Given the description of an element on the screen output the (x, y) to click on. 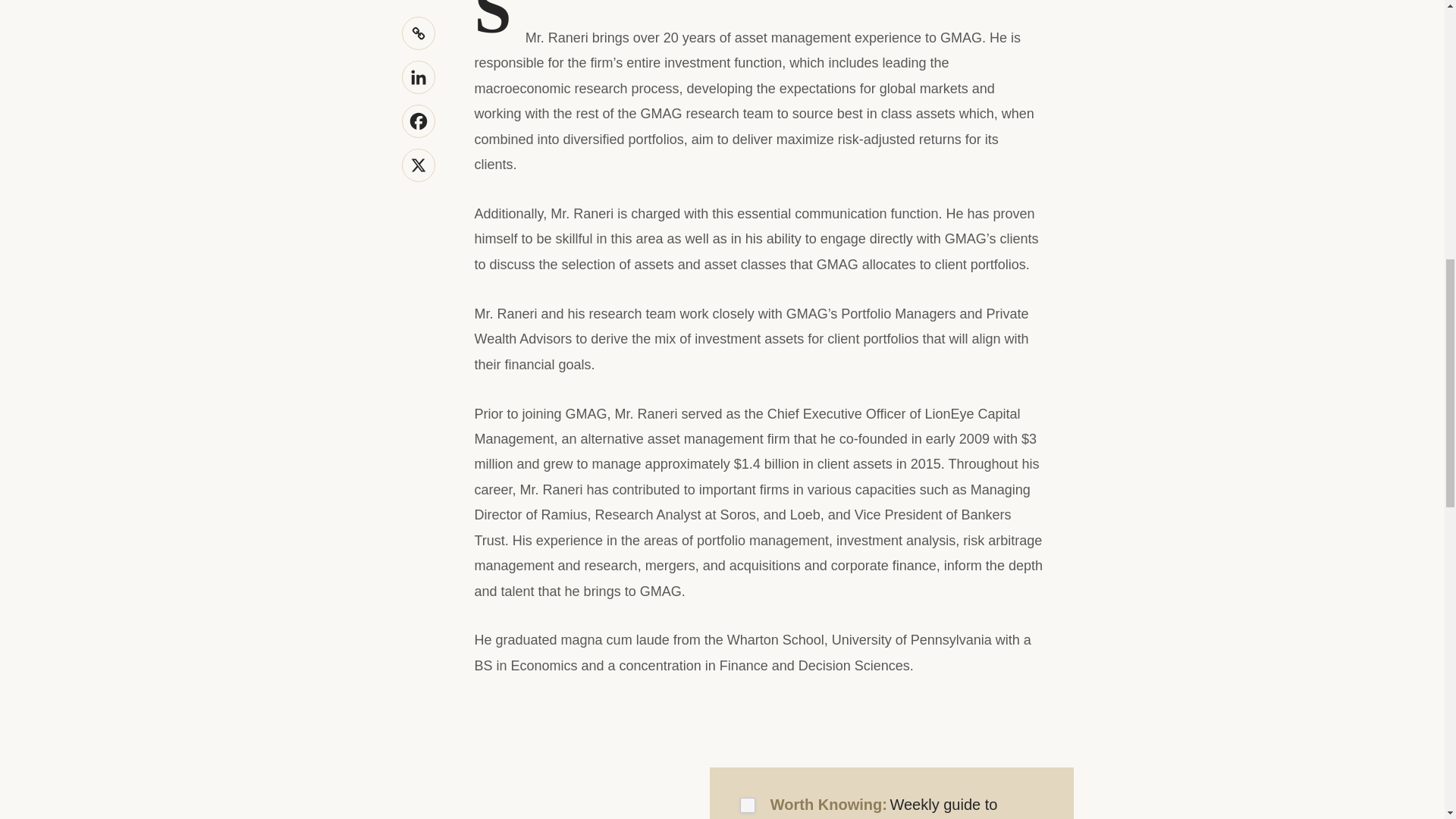
X (418, 164)
Facebook (418, 121)
Copy Link (418, 32)
Linkedin (418, 77)
yes (747, 805)
